Given the description of an element on the screen output the (x, y) to click on. 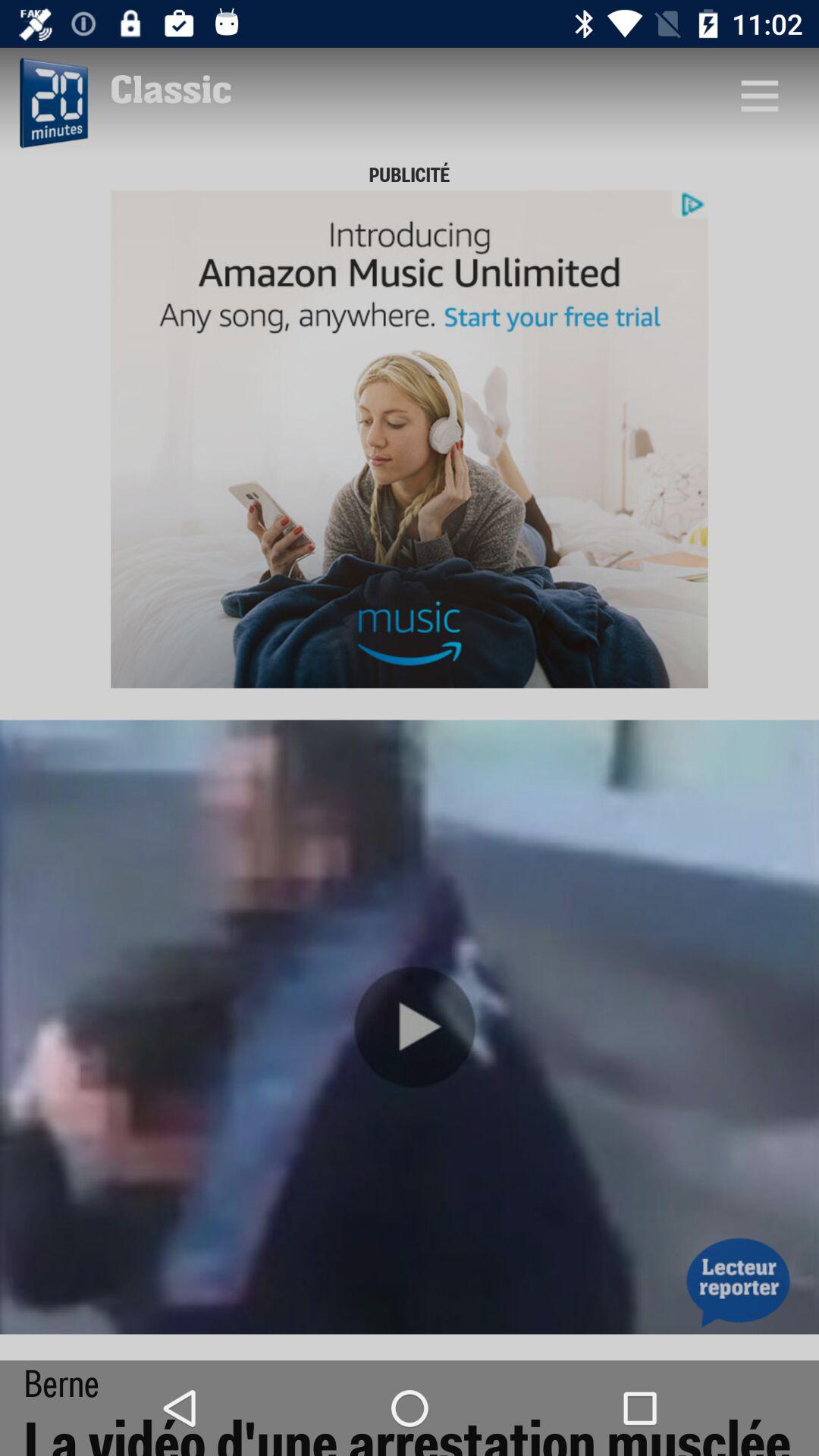
time setting (52, 103)
